Given the description of an element on the screen output the (x, y) to click on. 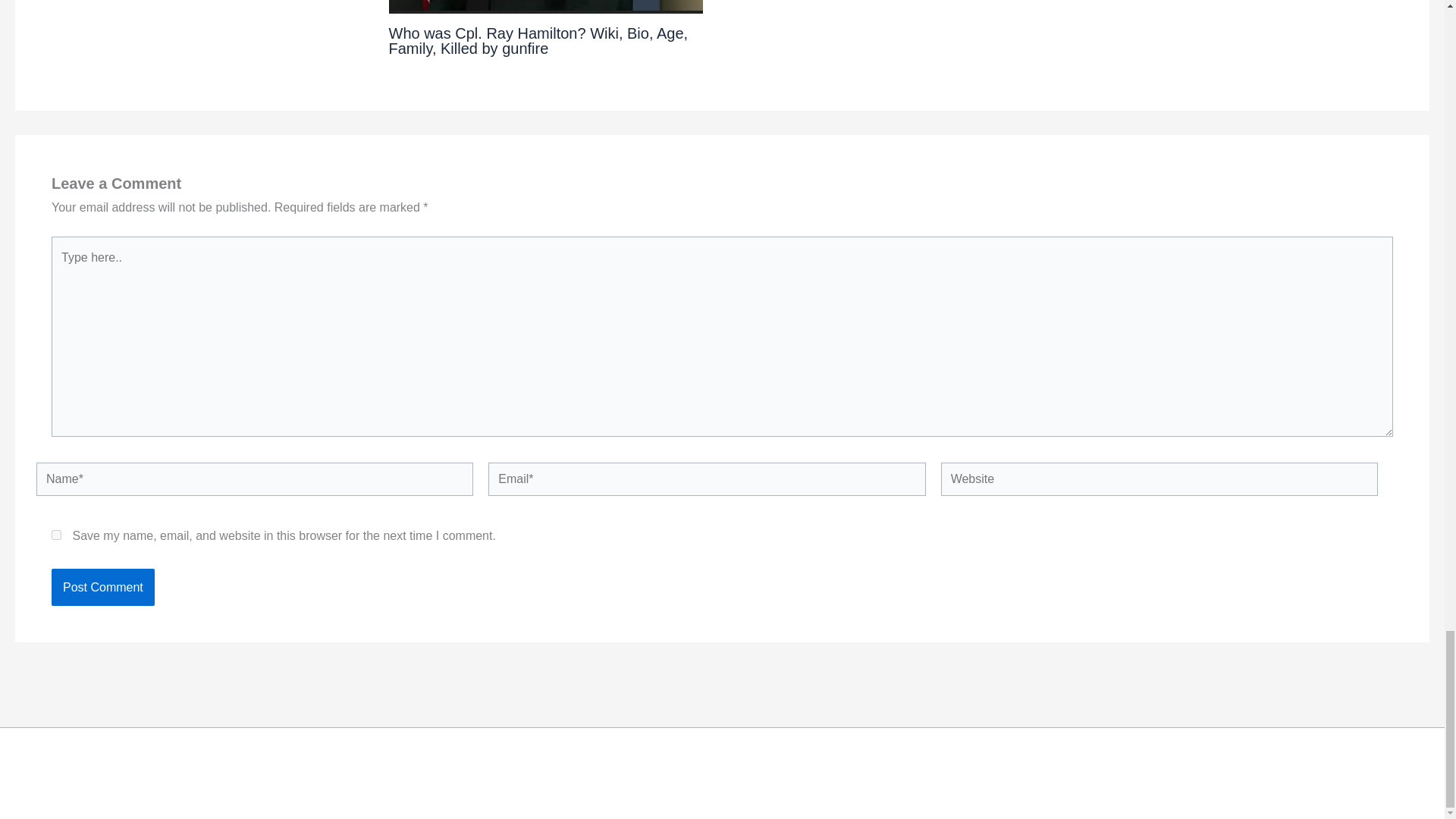
Post Comment (102, 587)
yes (55, 534)
Post Comment (102, 587)
